Given the description of an element on the screen output the (x, y) to click on. 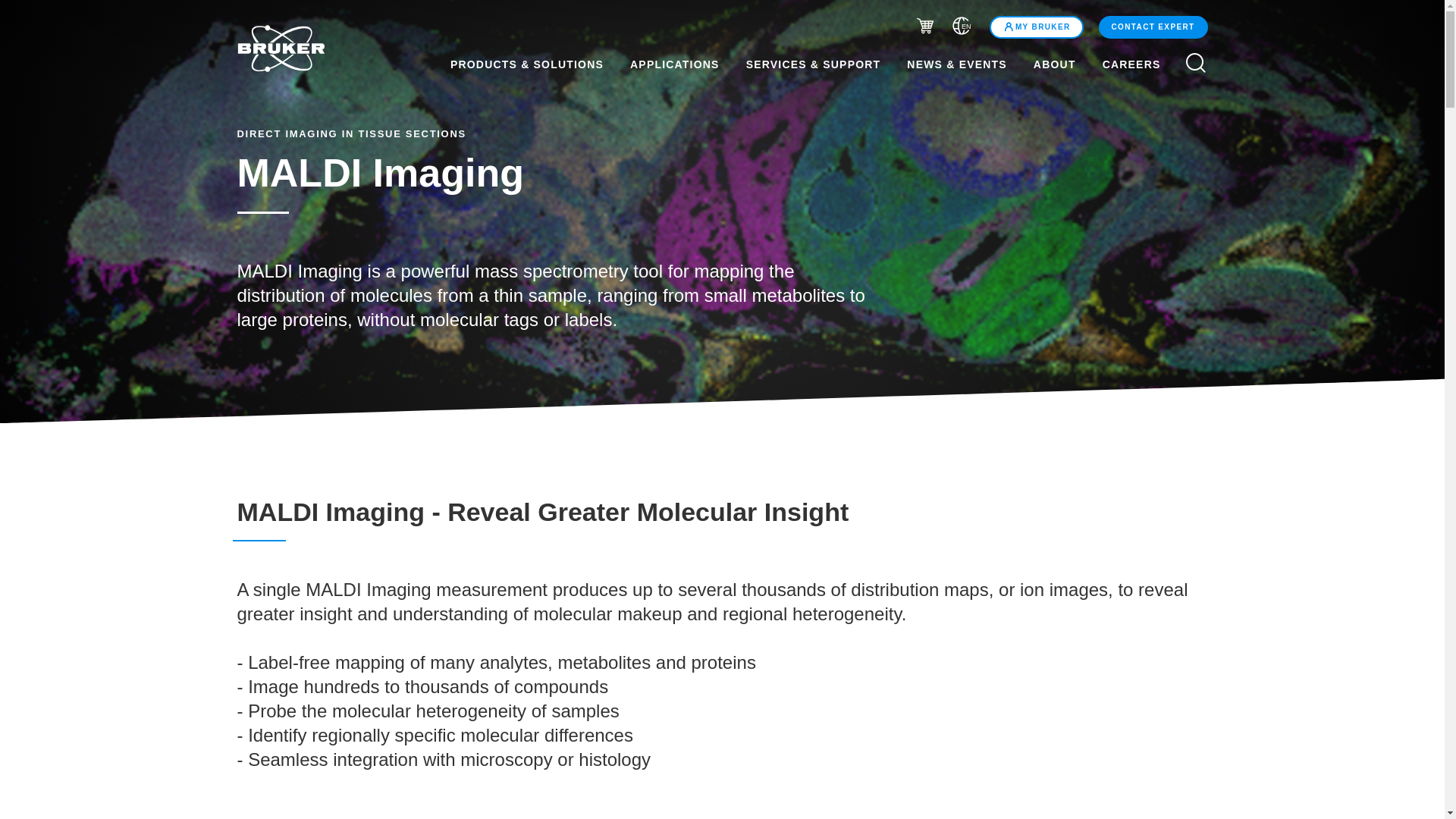
Login (1036, 26)
APPLICATIONS (674, 64)
MY BRUKER (1036, 26)
CAREERS (1141, 64)
CONTACT EXPERT (1151, 27)
ABOUT (1054, 64)
CONTACT EXPERT (1153, 26)
